Given the description of an element on the screen output the (x, y) to click on. 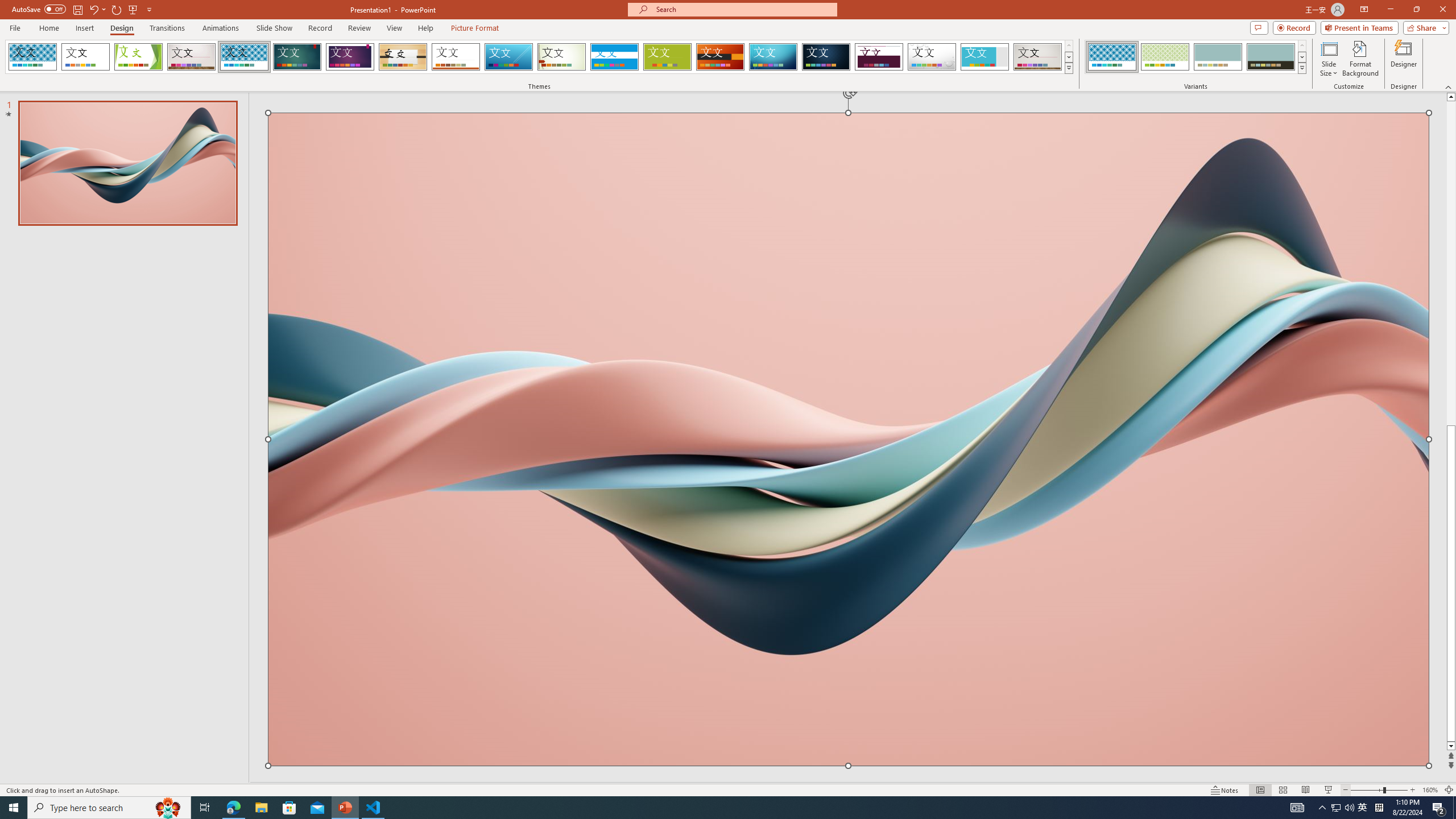
Page up (1450, 264)
Zoom 160% (1430, 790)
Notes  (1225, 790)
Picture Format (475, 28)
Row Down (1301, 56)
Droplet (931, 56)
Ion Boardroom (350, 56)
Facet (138, 56)
Variants (1301, 67)
Integral Variant 2 (1164, 56)
